Given the description of an element on the screen output the (x, y) to click on. 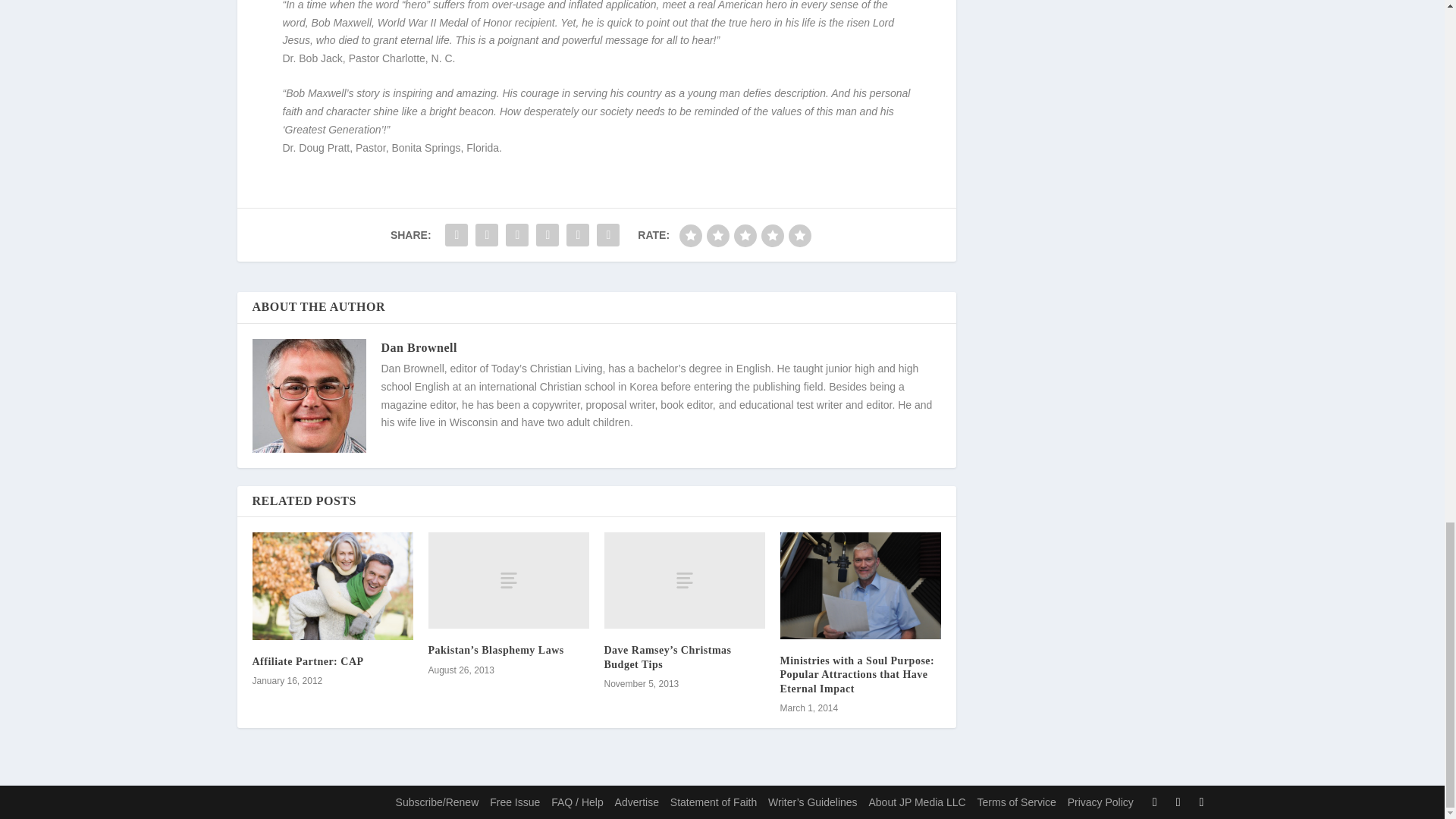
good (772, 235)
poor (717, 235)
Affiliate Partner: CAP (306, 661)
regular (745, 235)
Dan Brownell (418, 347)
gorgeous (799, 235)
bad (690, 235)
